Given the description of an element on the screen output the (x, y) to click on. 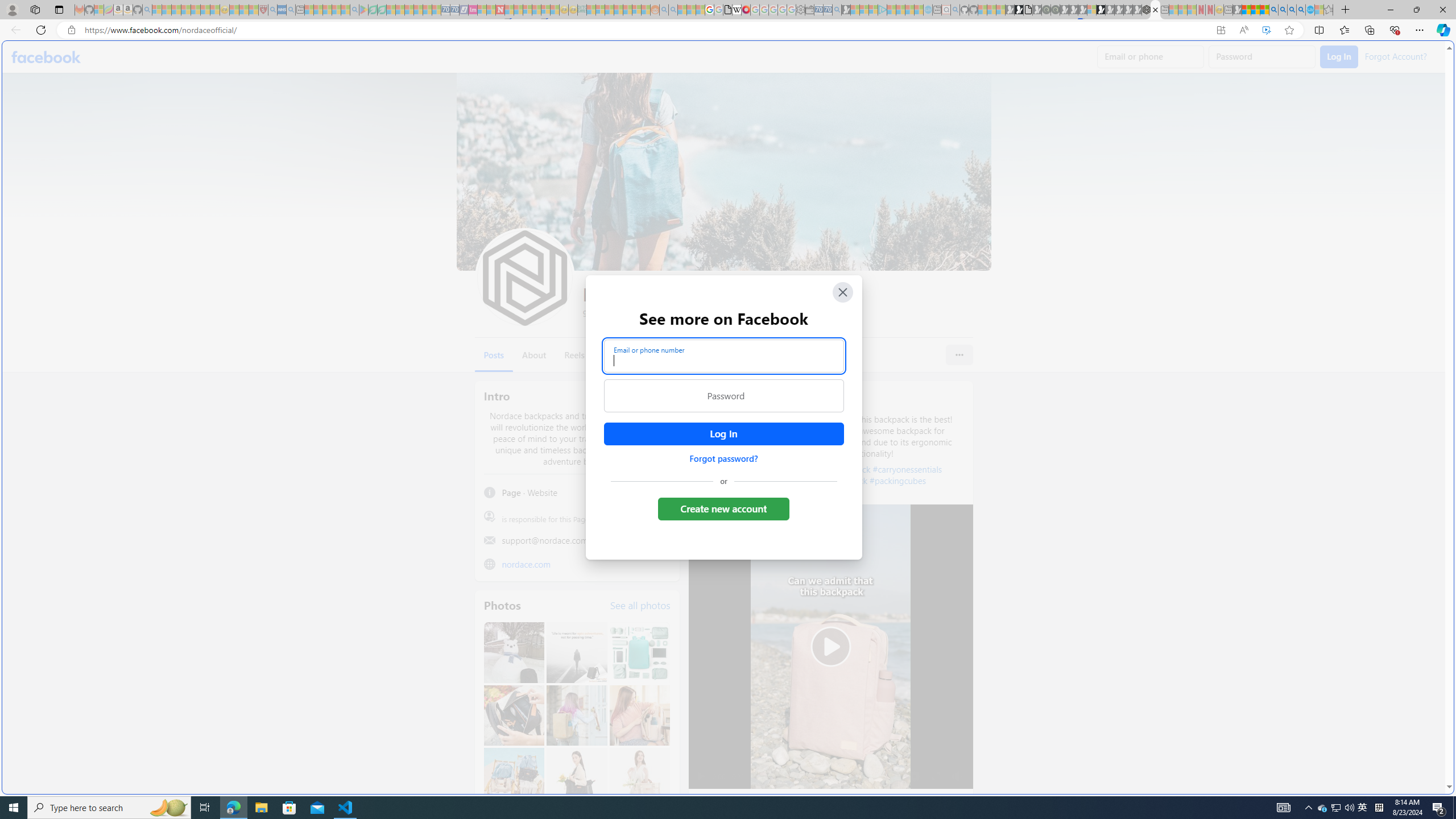
Microsoft Start Gaming - Sleeping (846, 9)
MSNBC - MSN - Sleeping (590, 9)
Play Zoo Boom in your browser | Games from Microsoft Start (1018, 9)
New Report Confirms 2023 Was Record Hot | Watch - Sleeping (195, 9)
